Given the description of an element on the screen output the (x, y) to click on. 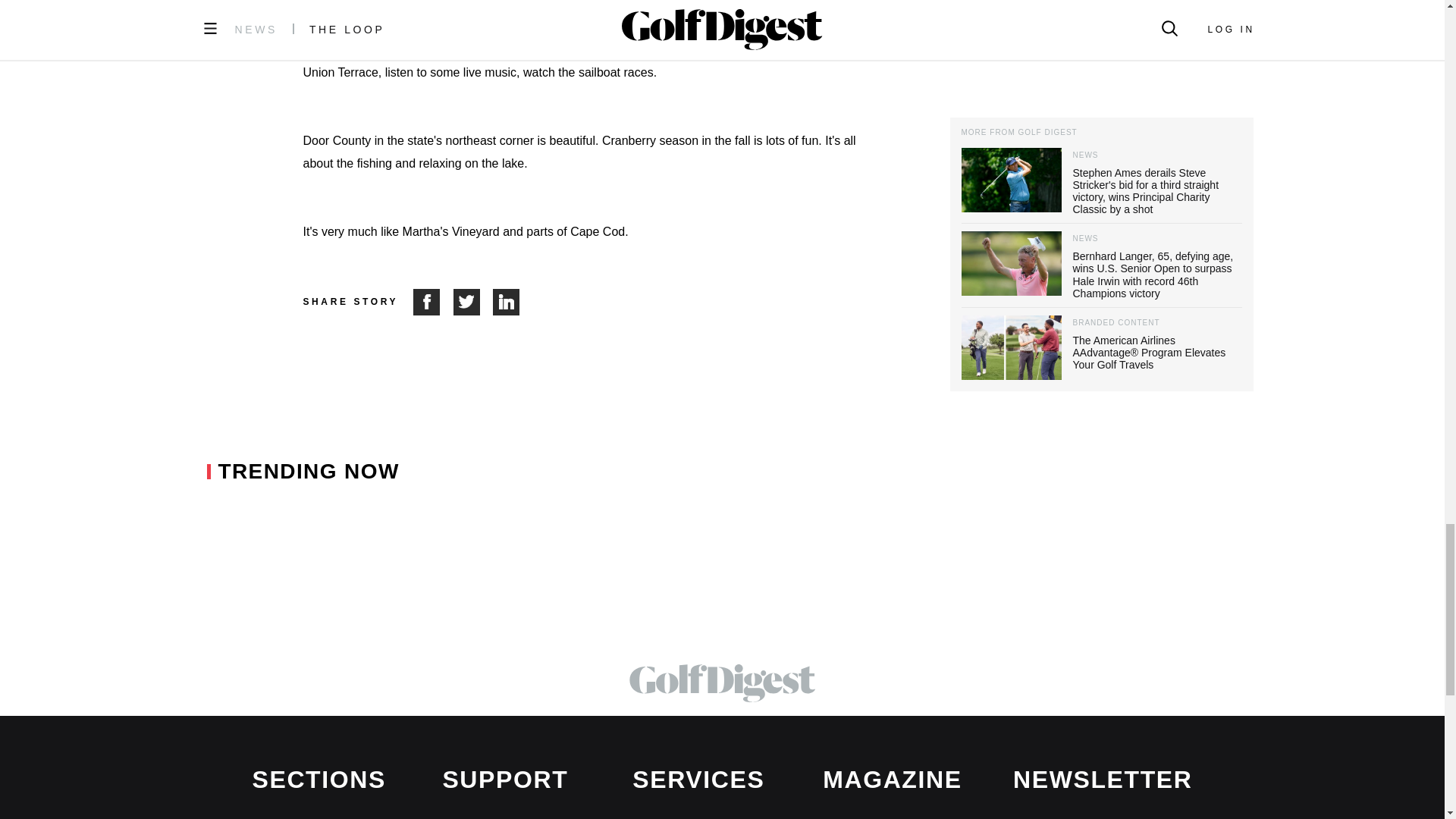
Share on LinkedIn (506, 302)
Share on Twitter (472, 302)
Share on Facebook (432, 302)
